Given the description of an element on the screen output the (x, y) to click on. 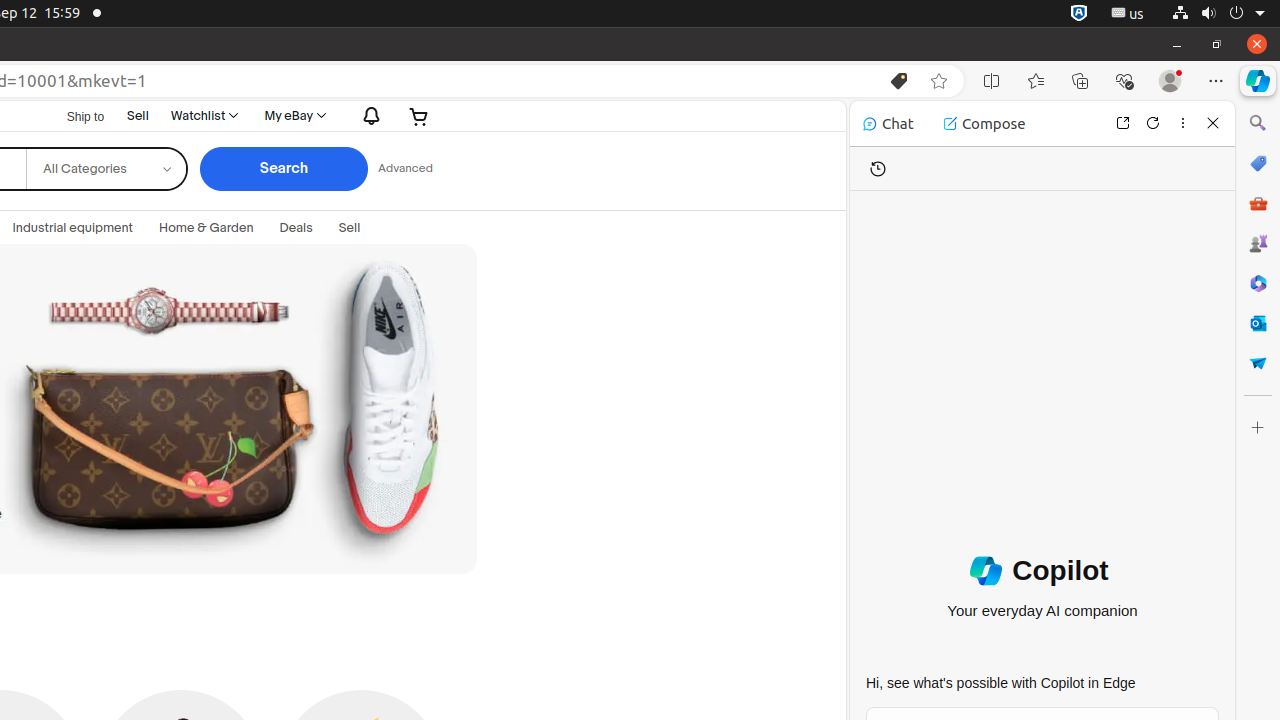
This site has coupons! Shopping in Microsoft Edge Element type: push-button (899, 81)
Notifications Element type: push-button (367, 116)
Browser essentials Element type: push-button (1124, 81)
:1.21/StatusNotifierItem Element type: menu (1127, 13)
Collections Element type: push-button (1080, 81)
